Given the description of an element on the screen output the (x, y) to click on. 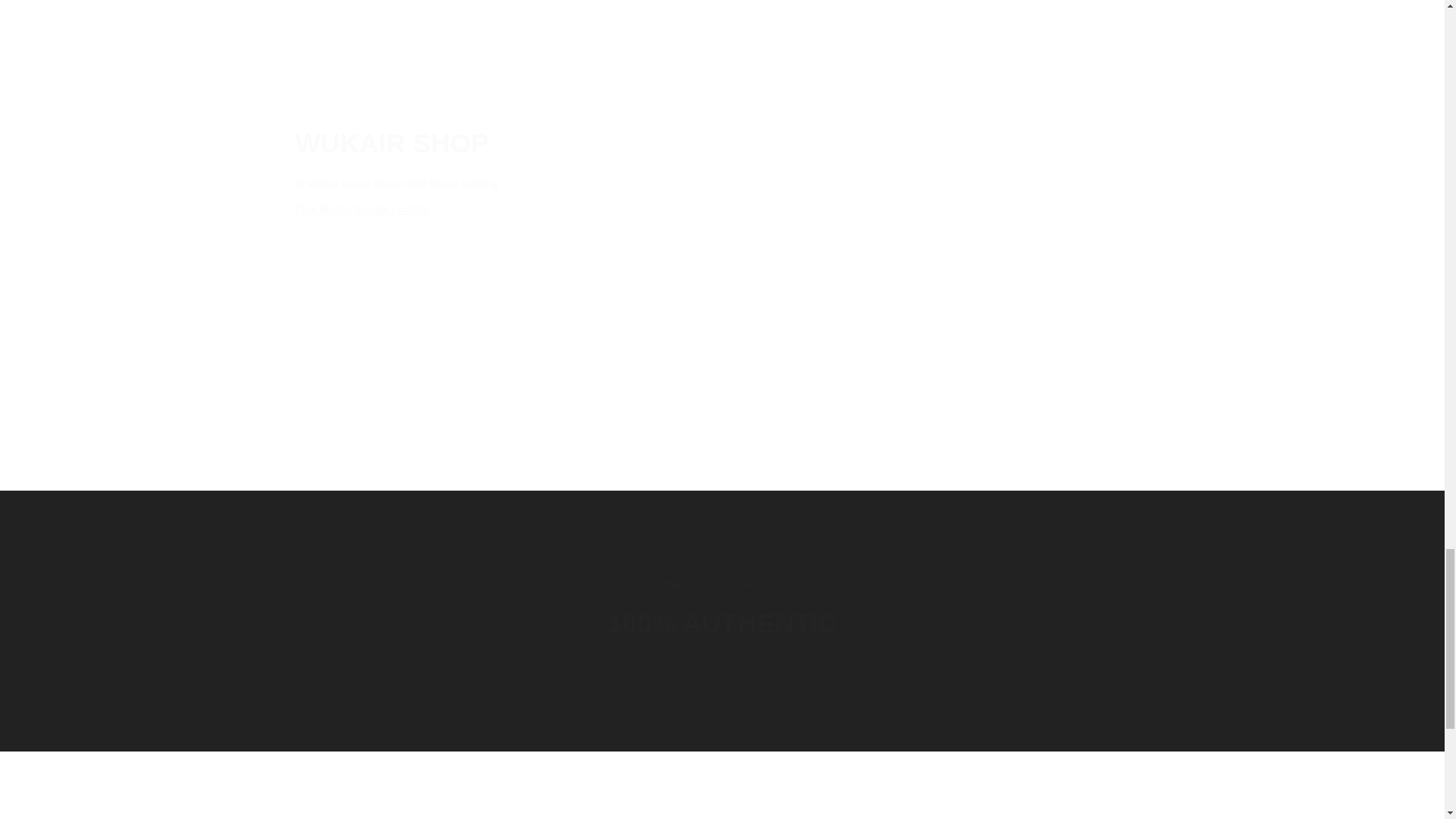
PRINCESS COSMETICS (722, 584)
WUKAIR SHOP (443, 142)
